Given the description of an element on the screen output the (x, y) to click on. 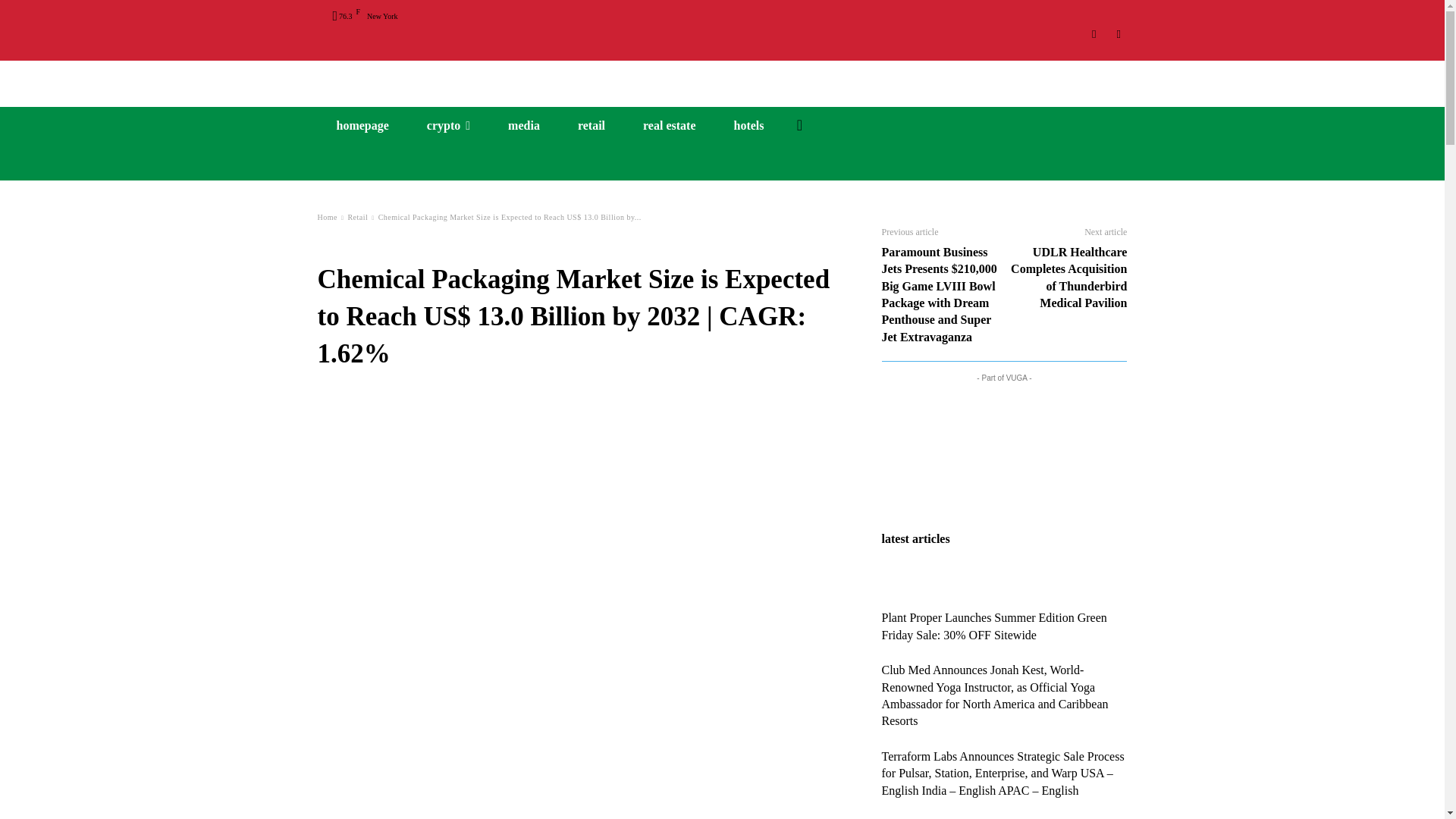
homepage (362, 125)
hotels (748, 125)
Delta Quattro (721, 77)
crypto (448, 125)
media (524, 125)
Instagram (1094, 34)
retail (591, 125)
Delta Quattro (721, 77)
real estate (669, 125)
Facebook (1117, 34)
